Given the description of an element on the screen output the (x, y) to click on. 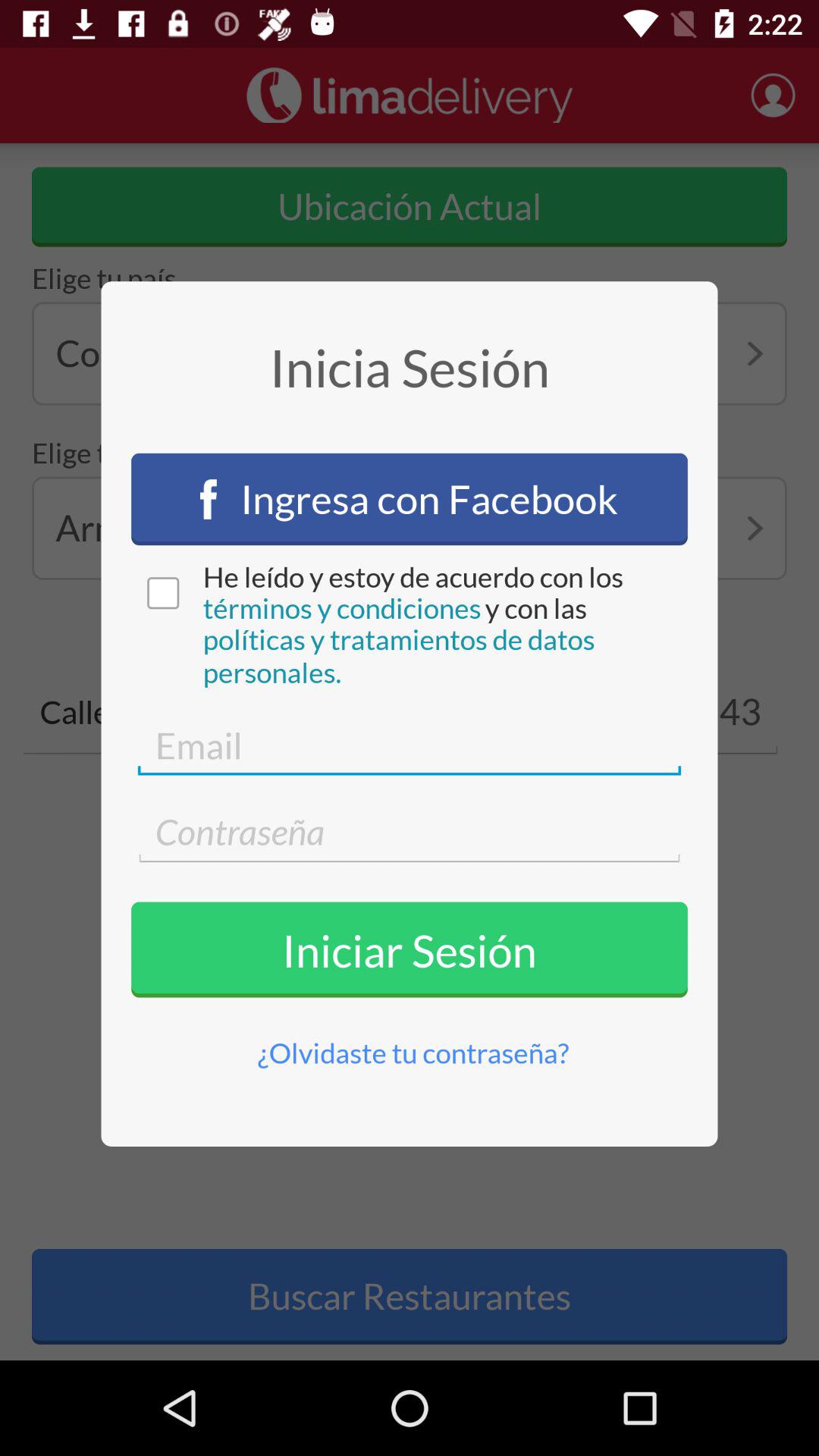
click the icon next to the y con las (342, 607)
